Given the description of an element on the screen output the (x, y) to click on. 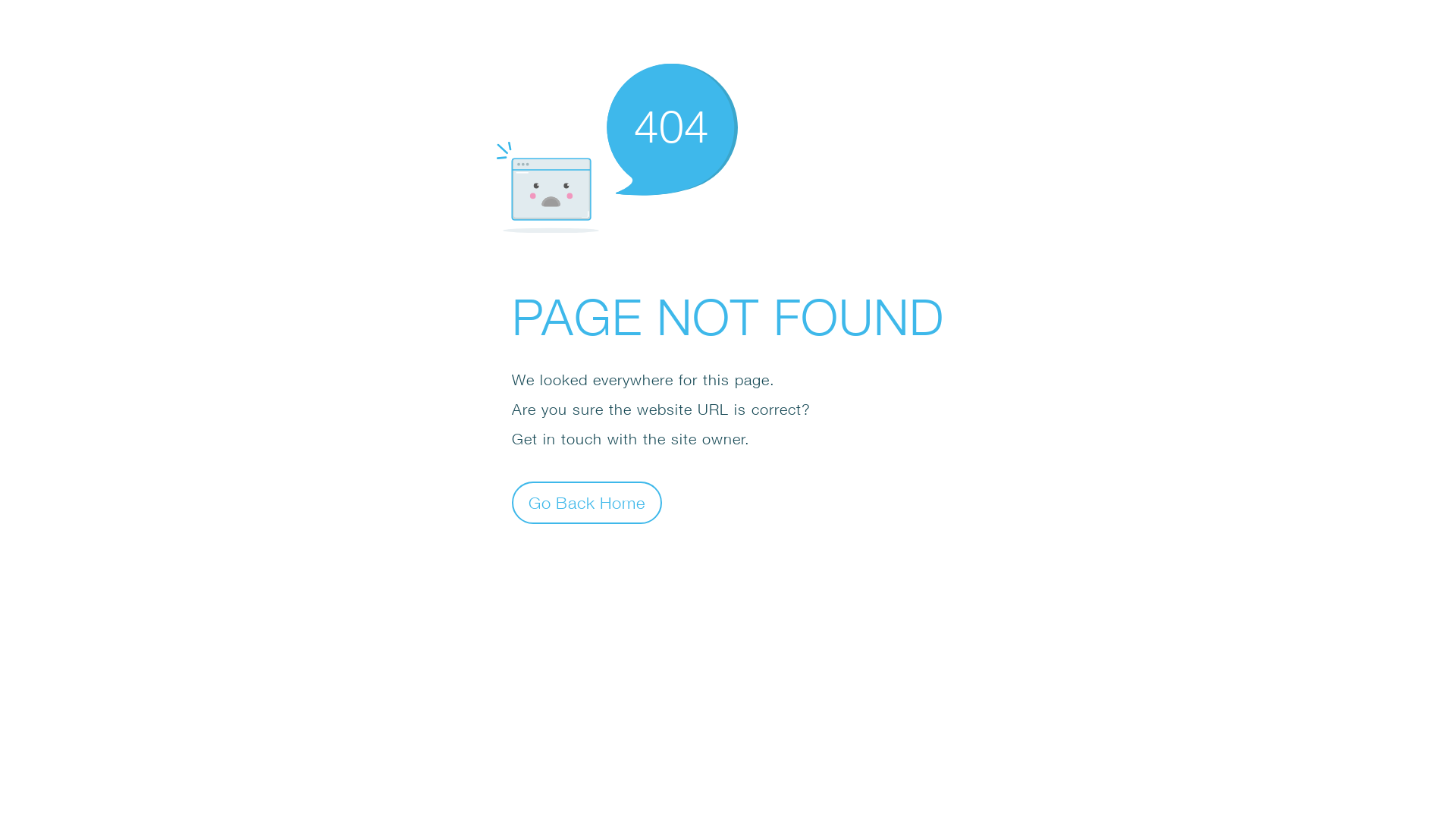
Go Back Home Element type: text (586, 502)
